Given the description of an element on the screen output the (x, y) to click on. 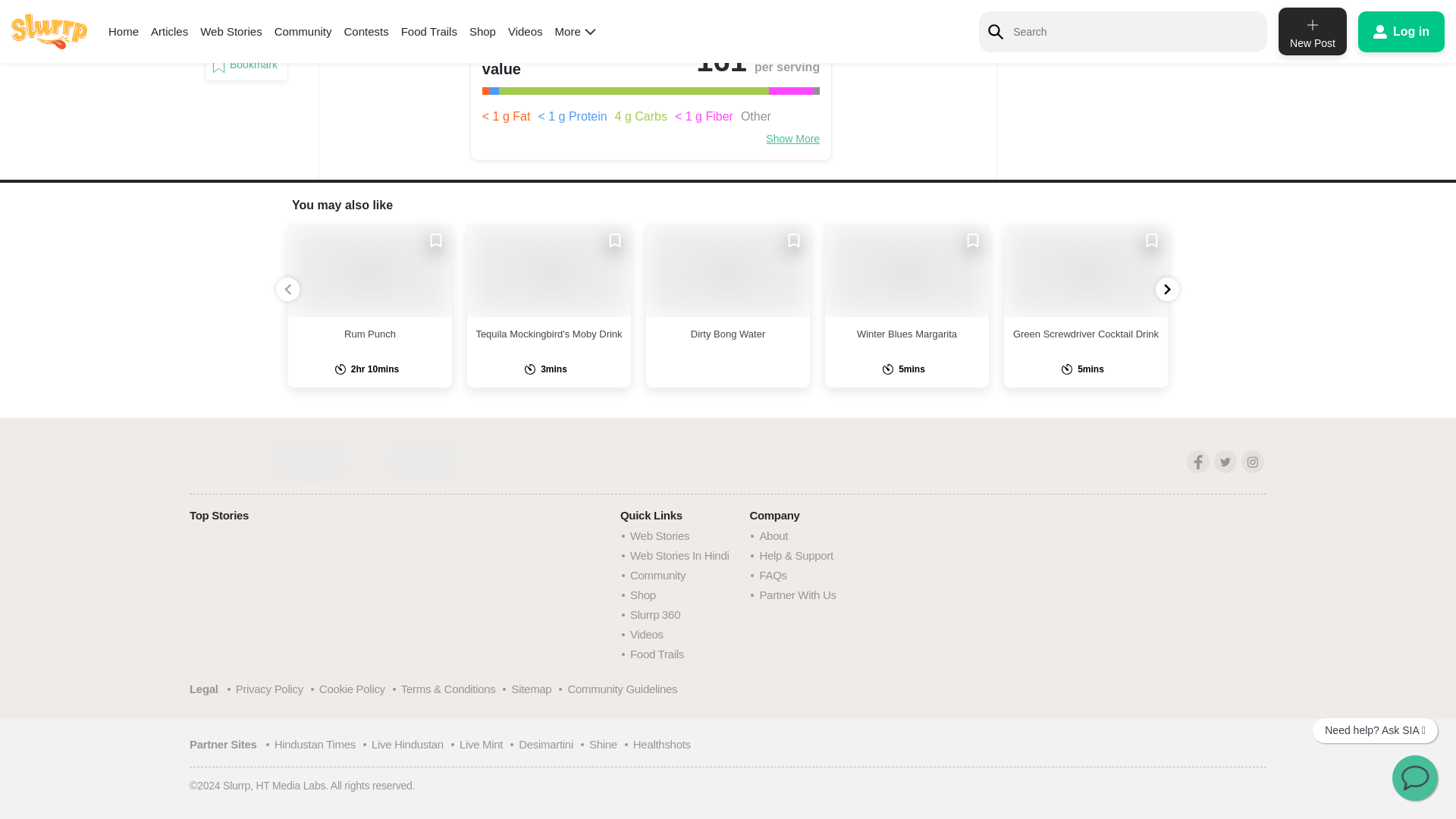
Tequila Mockingbird's Moby Drink (548, 270)
Rum Punch (369, 270)
